Given the description of an element on the screen output the (x, y) to click on. 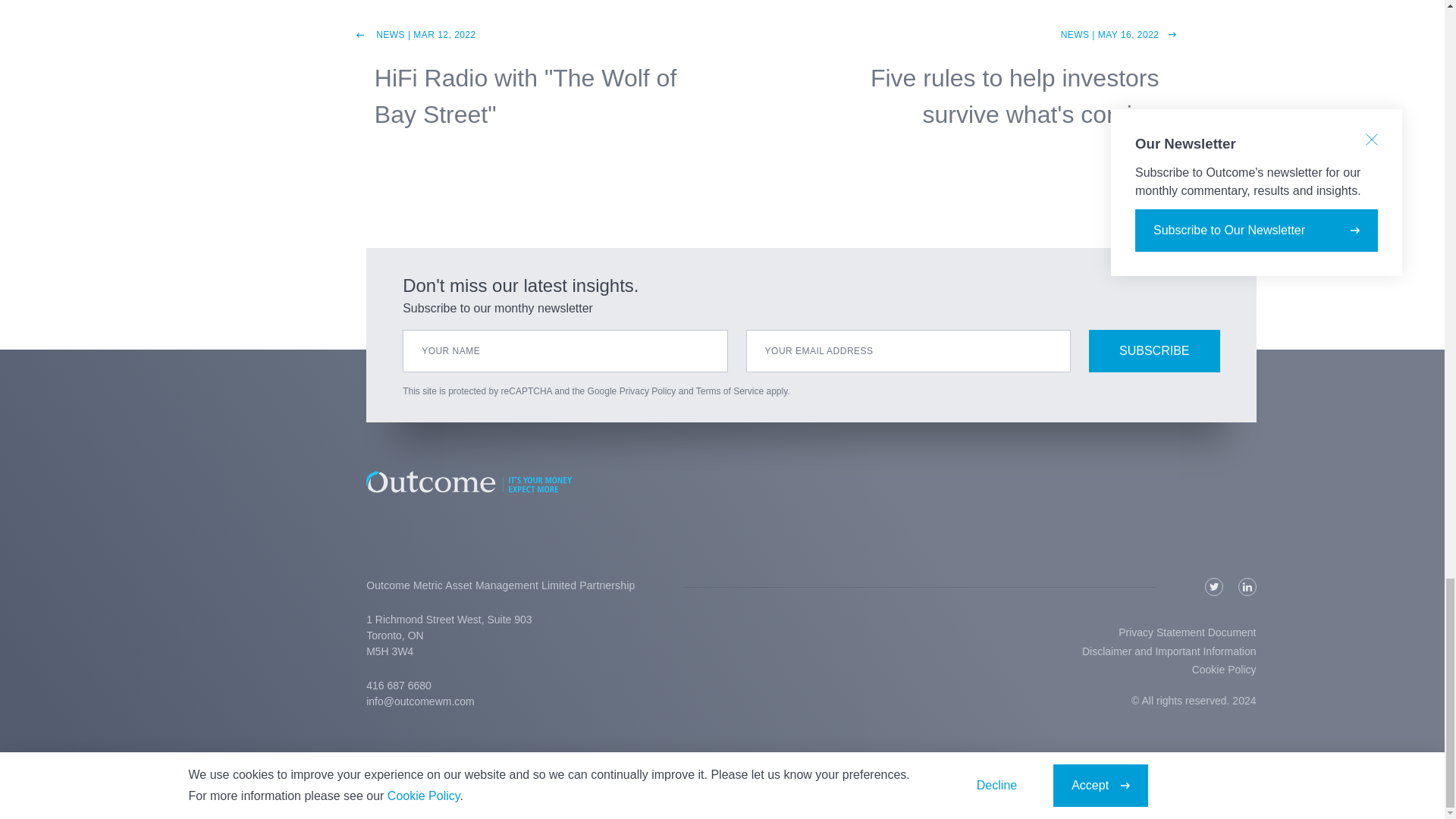
Follow Outcome on Linkedin (1246, 587)
Go to Homepage (810, 493)
Follow Outcome on Twitter (1213, 587)
Terms of Service (728, 390)
416 687 6680 (398, 685)
Five rules to help investors survive what's coming (1015, 95)
Privacy Policy (648, 390)
SUBSCRIBE (1154, 351)
HiFi Radio with "The Wolf of Bay Street" (525, 95)
